Given the description of an element on the screen output the (x, y) to click on. 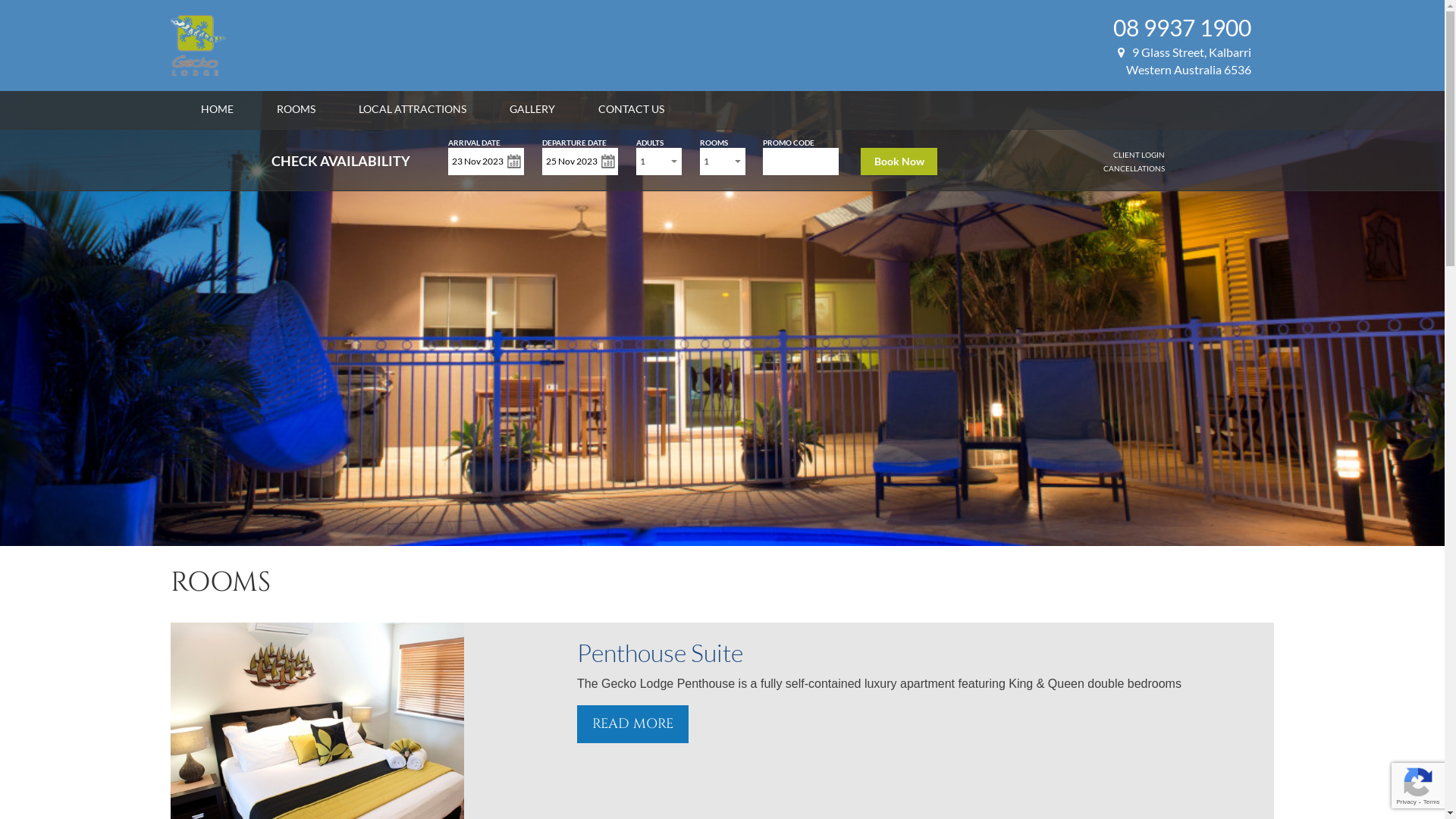
CANCELLATIONS Element type: text (1133, 167)
ROOMS Element type: text (295, 109)
CONTACT US Element type: text (631, 109)
LOCAL ATTRACTIONS Element type: text (412, 109)
08 9937 1900 Element type: text (1182, 26)
HOME Element type: text (216, 109)
GALLERY Element type: text (532, 109)
Book Now Element type: text (898, 161)
Penthouse Suite Element type: text (660, 652)
CLIENT LOGIN Element type: text (1138, 154)
9 Glass Street, Kalbarri
Western Australia 6536 Element type: text (1184, 60)
READ MORE Element type: text (632, 724)
